Given the description of an element on the screen output the (x, y) to click on. 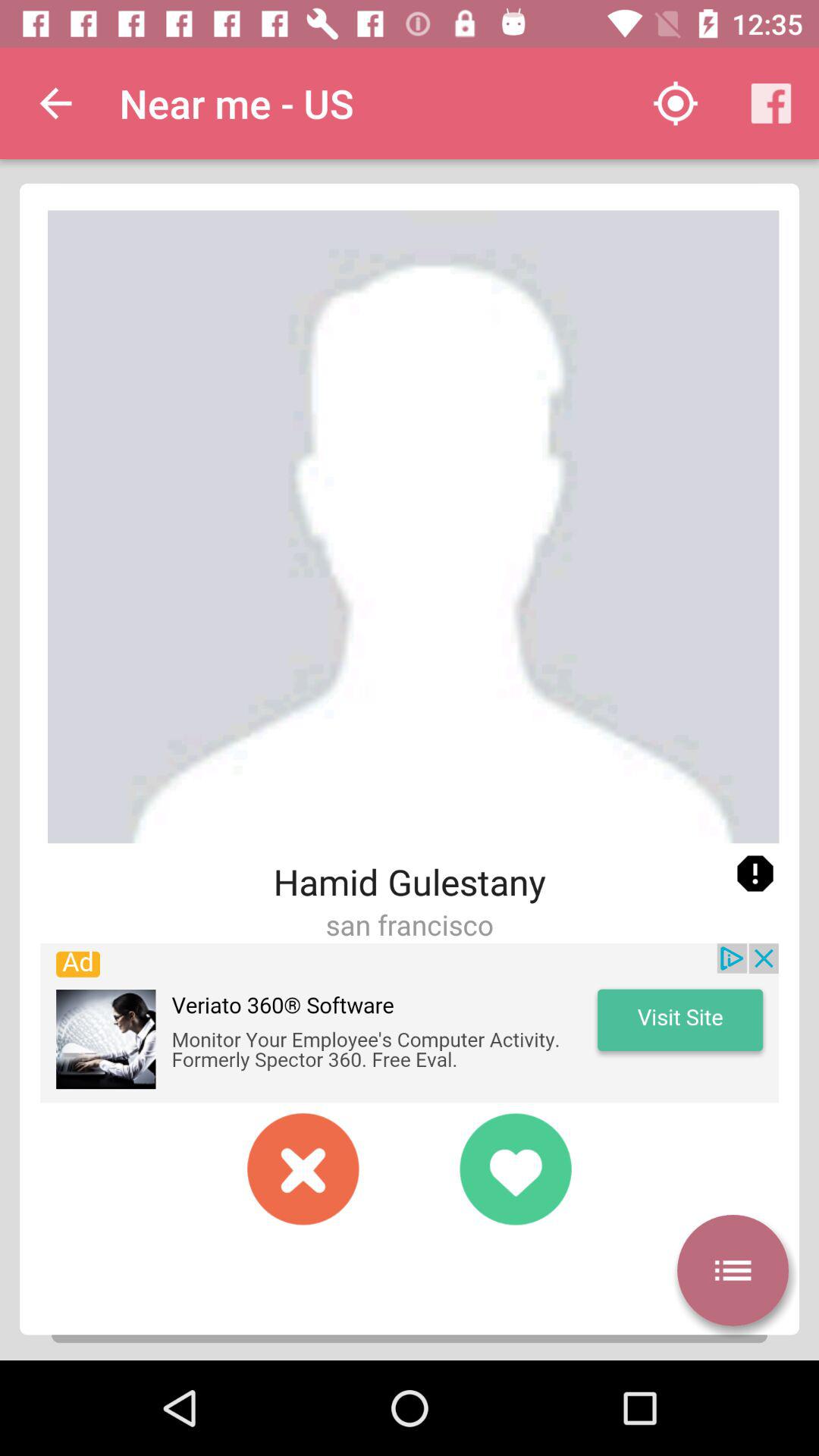
like person (515, 1169)
